Given the description of an element on the screen output the (x, y) to click on. 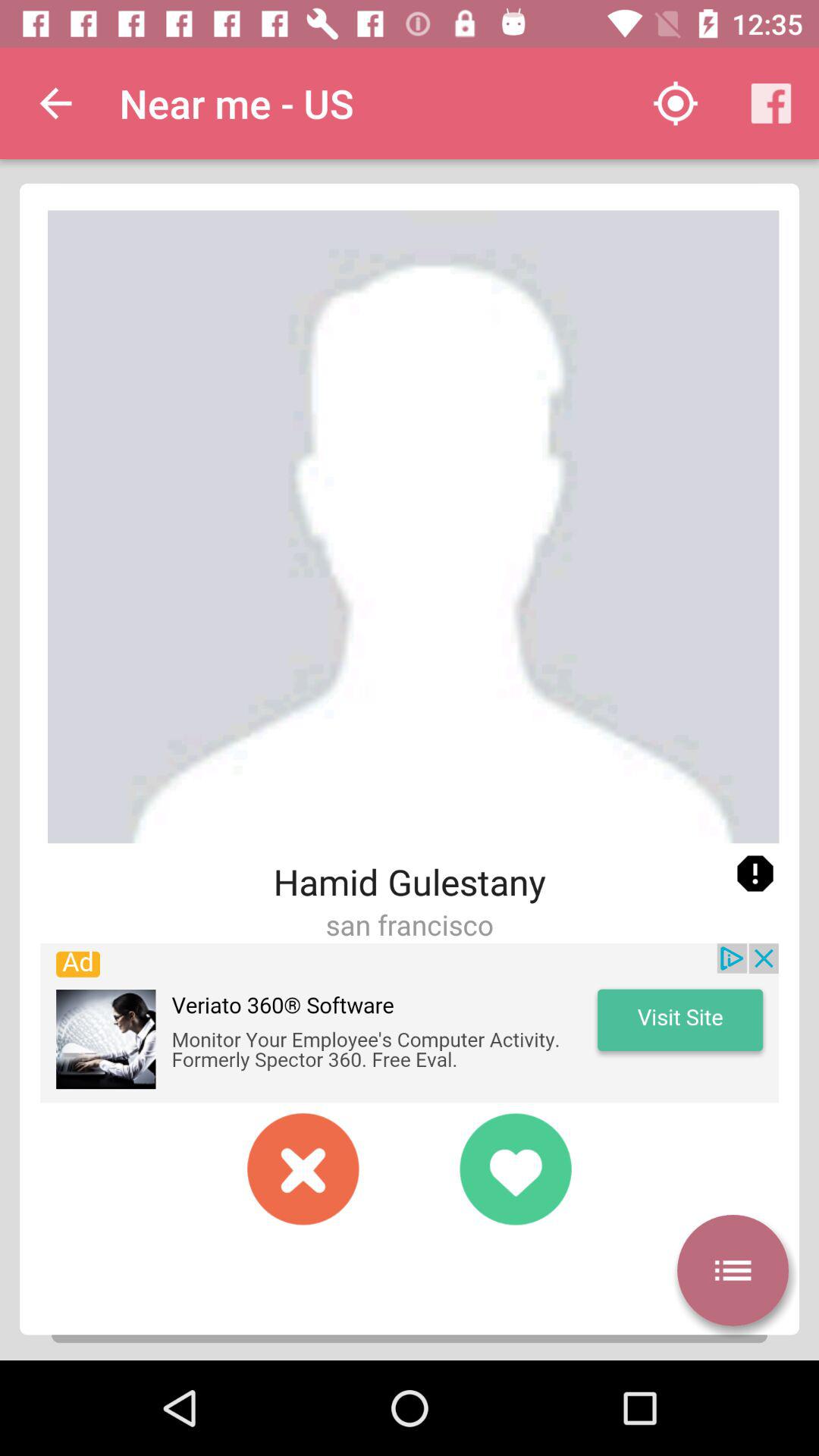
like person (515, 1169)
